Given the description of an element on the screen output the (x, y) to click on. 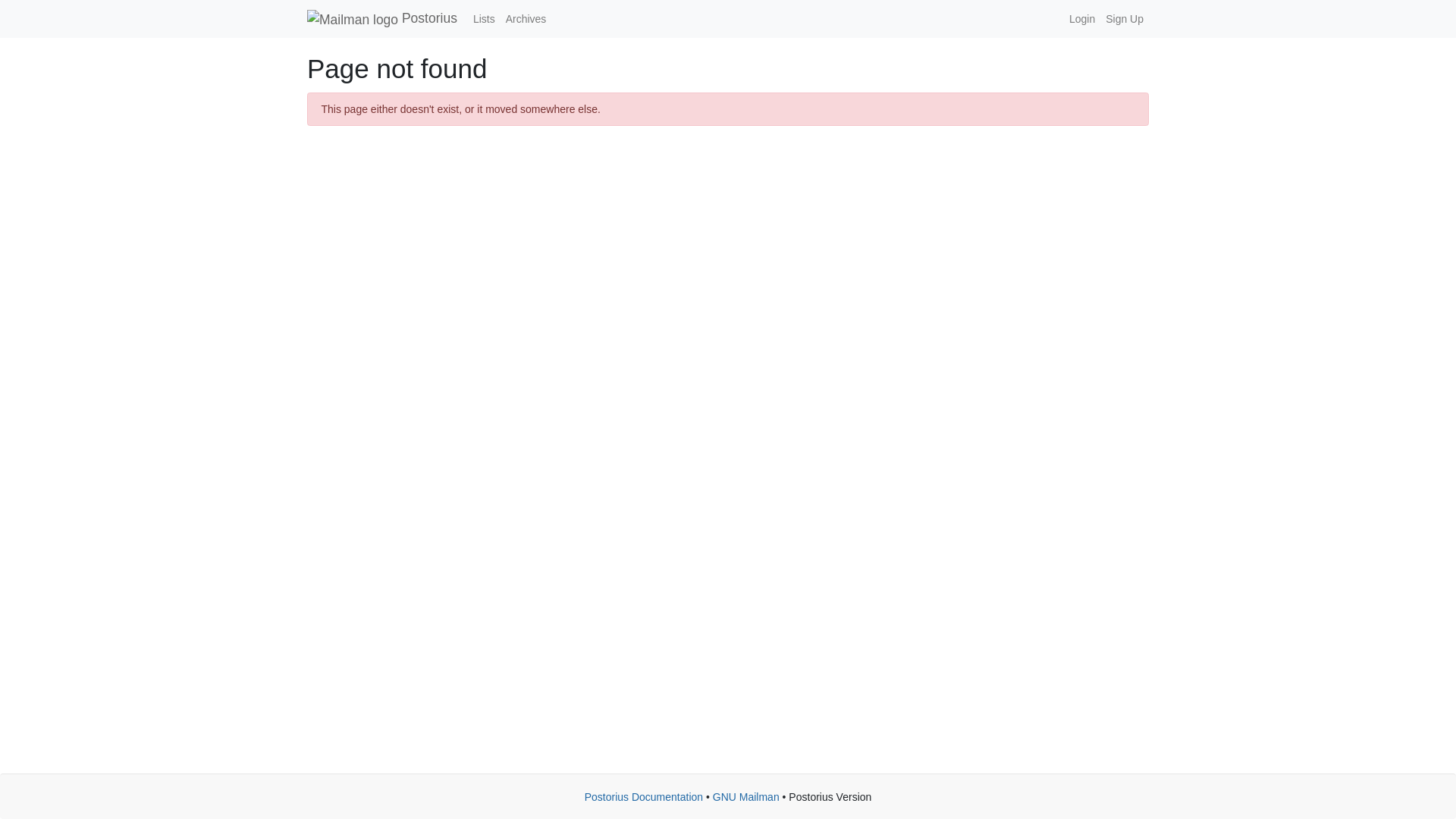
Postorius (382, 18)
Sign Up (1124, 18)
Lists (483, 18)
Login (1082, 18)
Archives (525, 18)
